Given the description of an element on the screen output the (x, y) to click on. 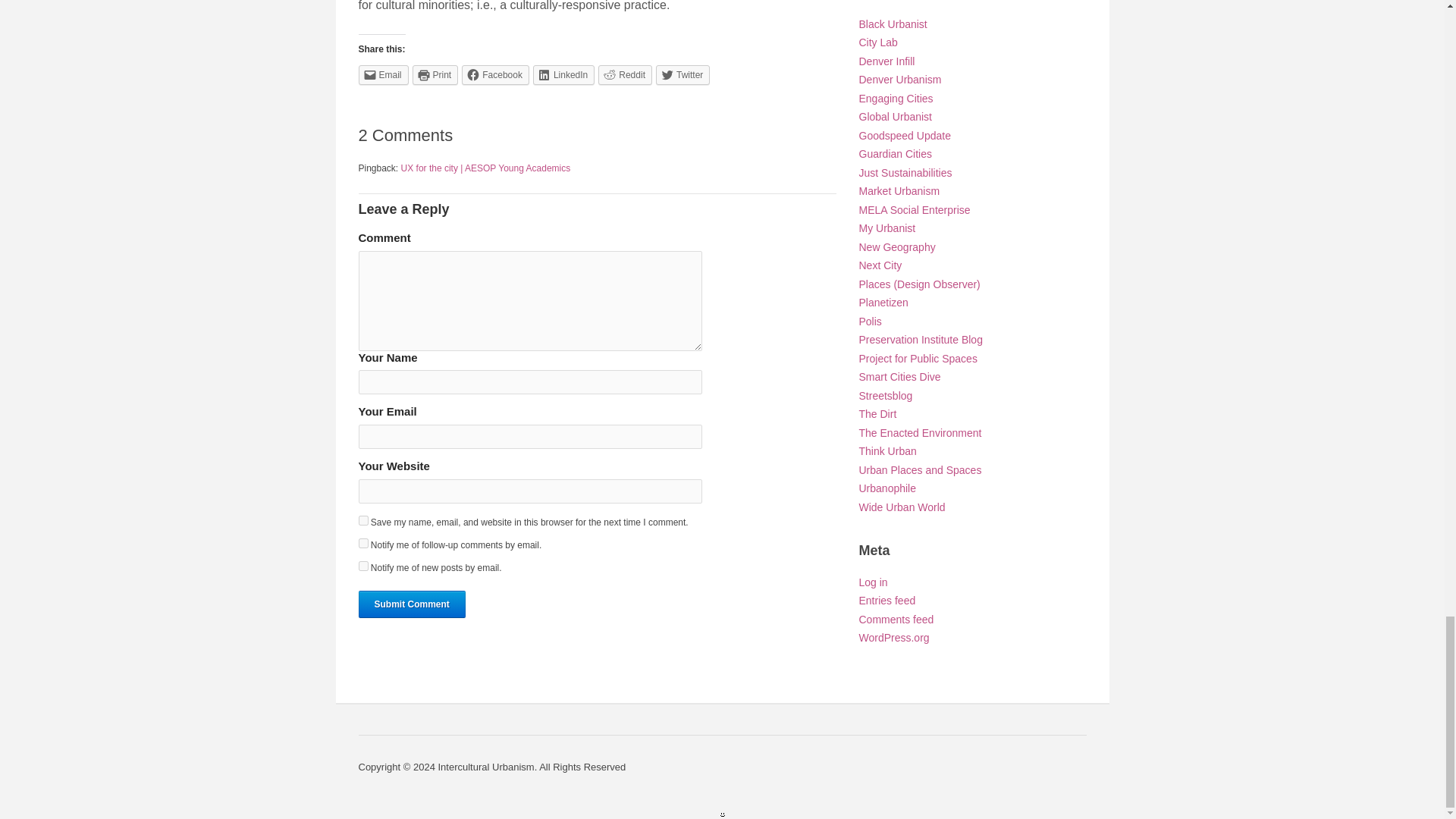
Submit Comment (411, 604)
Facebook (495, 75)
yes (363, 520)
Click to share on Twitter (683, 75)
Twitter (683, 75)
Submit Comment (411, 604)
Click to share on Facebook (495, 75)
Email (382, 75)
Print (435, 75)
Click to email this to a friend (382, 75)
subscribe (363, 565)
LinkedIn (563, 75)
Reddit (625, 75)
subscribe (363, 542)
Click to share on Reddit (625, 75)
